Given the description of an element on the screen output the (x, y) to click on. 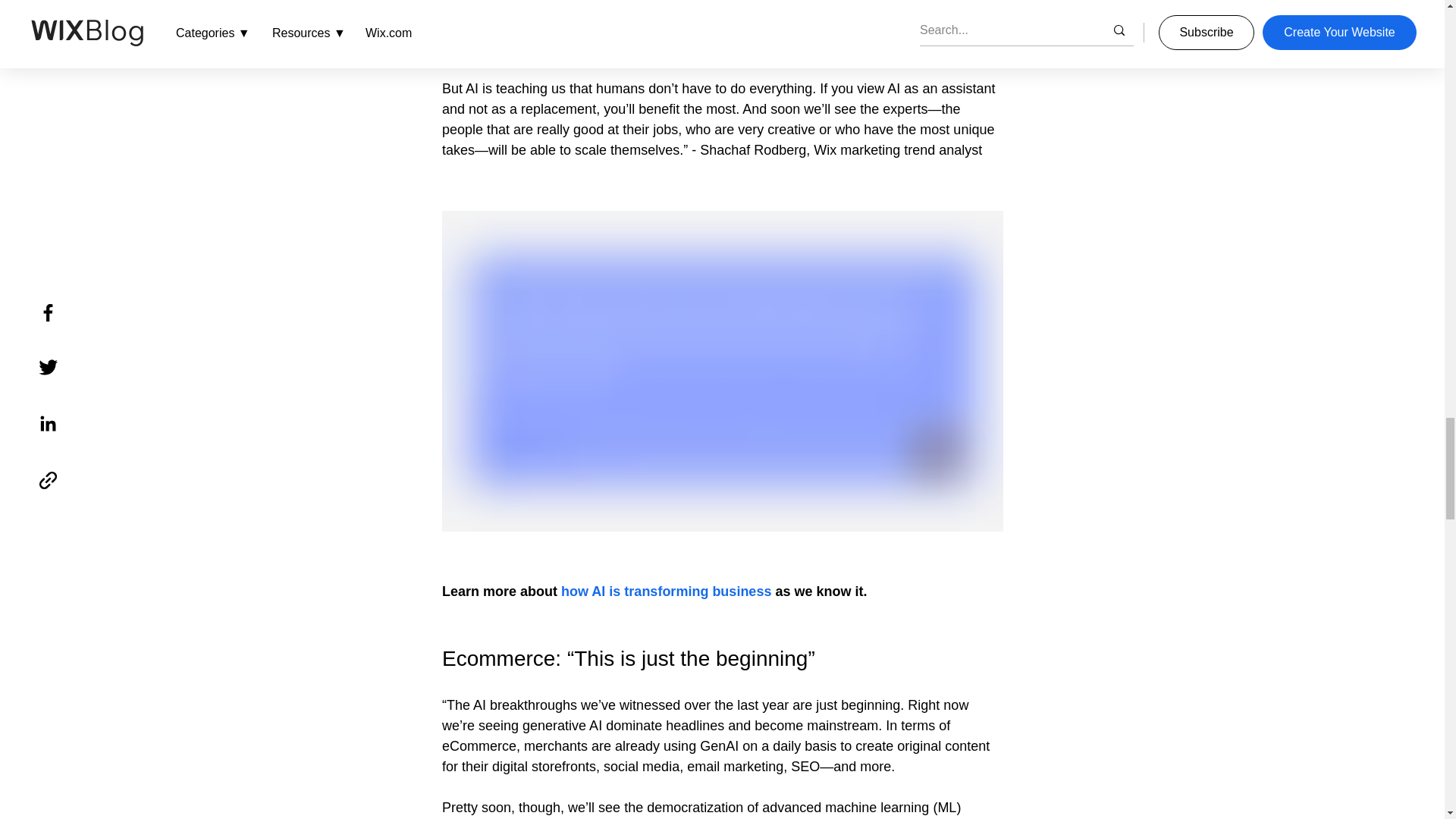
how AI is transforming business (665, 590)
